Given the description of an element on the screen output the (x, y) to click on. 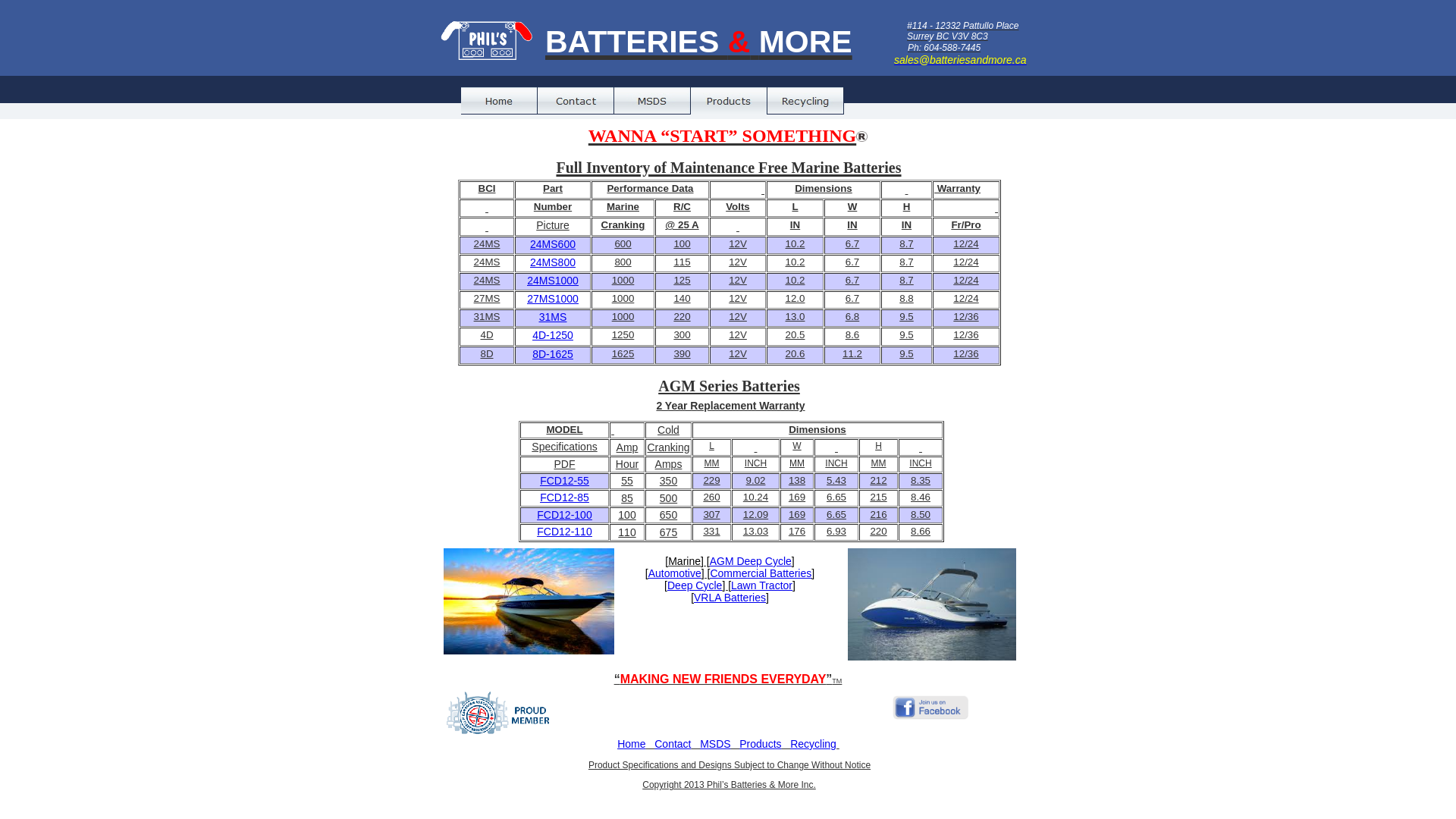
Recycling Element type: hover (805, 100)
31MS Element type: text (553, 316)
FCD12-100 Element type: text (563, 514)
Recycling Element type: text (813, 743)
AGM Deep Cycle Element type: text (750, 561)
sales@batteriesandmore.ca Element type: text (960, 59)
24MS600 Element type: text (552, 244)
8D-1625 Element type: text (552, 354)
Registered Trademark Element type: hover (861, 136)
FCD12-85 Element type: text (564, 497)
27MS1000 Element type: text (552, 298)
FCD12-55 Element type: text (564, 480)
Home Element type: hover (499, 100)
Commercial Batteries Element type: text (760, 573)
24MS800 Element type: text (552, 262)
24MS1000 Element type: text (552, 280)
MSDS Element type: text (714, 743)
Products Element type: text (760, 743)
Contact Element type: text (672, 743)
Deep Cycle Element type: text (694, 585)
facebookIcon Element type: hover (930, 706)
Home Element type: text (631, 743)
Products Element type: hover (728, 100)
4D-1250 Element type: text (552, 335)
Automotive Element type: text (674, 573)
Batteries Logo White1 Element type: hover (486, 39)
Boat Element type: hover (528, 601)
Lawn Tractor Element type: text (761, 585)
Contact Element type: hover (575, 100)
VRLA Batteries Element type: text (729, 597)
cafs-member-b Element type: hover (497, 712)
Boat1 Element type: hover (931, 604)
MSDS Element type: hover (652, 100)
FCD12-110 Element type: text (563, 531)
